Given the description of an element on the screen output the (x, y) to click on. 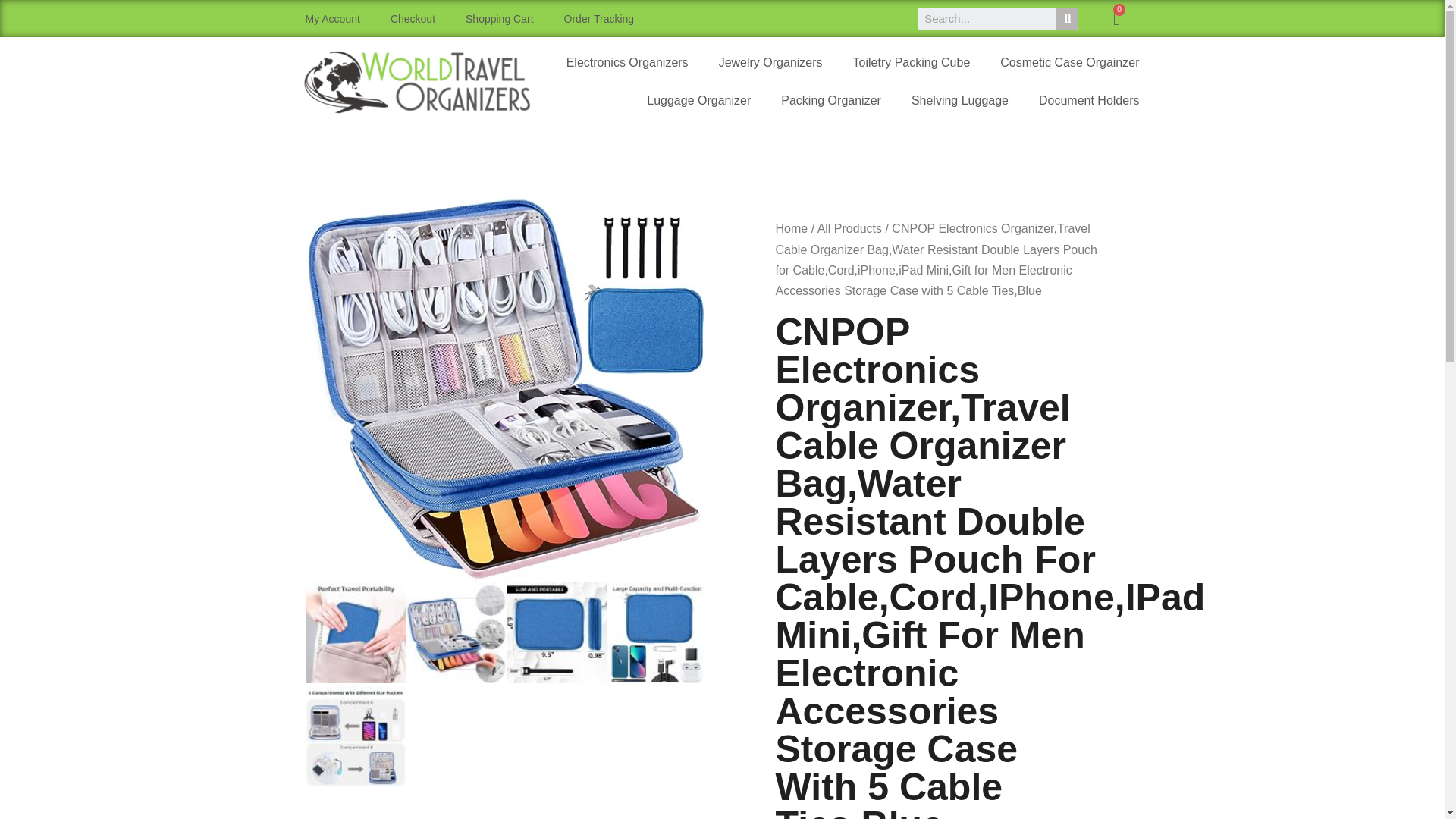
51gWyUufniL.jpg (657, 632)
Home (791, 228)
51FpECikx4L.jpg (355, 632)
All Products (849, 228)
Document Holders (1088, 100)
516MDFrxv8L.jpg (456, 632)
51PHpiUIrL.jpg (556, 632)
Checkout (412, 18)
51lGdenPhKL.jpg (355, 736)
Electronics Organizers (627, 62)
